Given the description of an element on the screen output the (x, y) to click on. 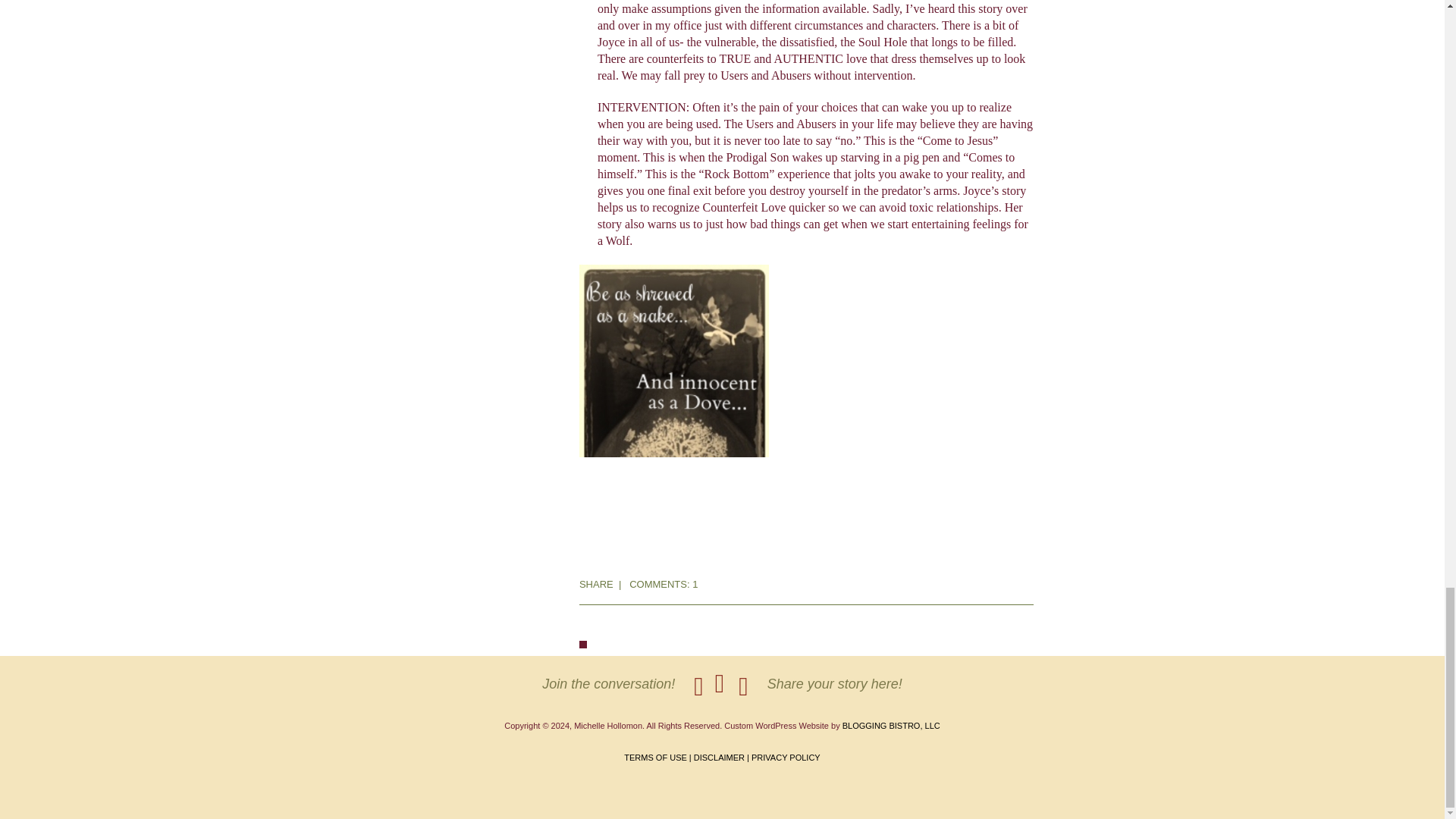
COMMENTS: 1 (662, 583)
SHARE (595, 583)
